Given the description of an element on the screen output the (x, y) to click on. 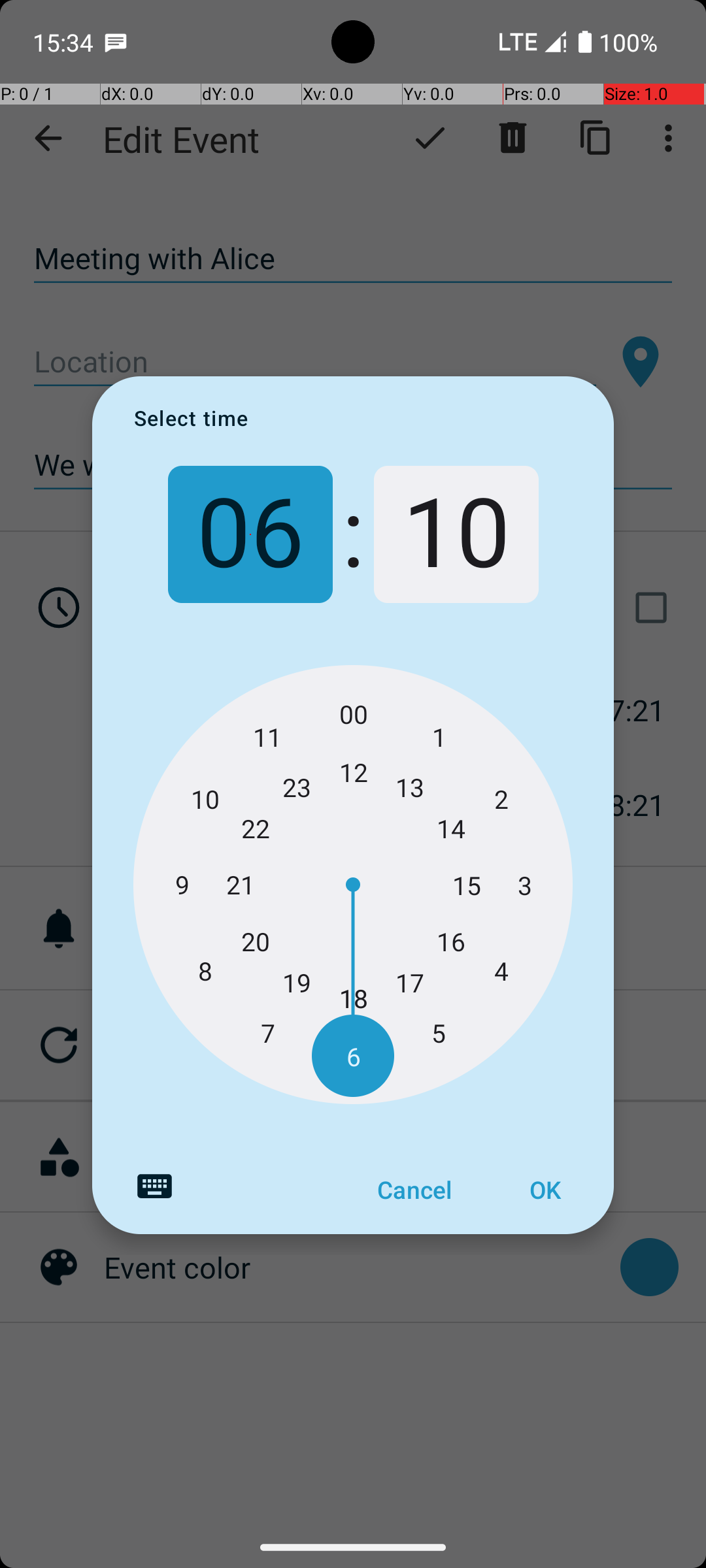
06 Element type: android.view.View (250, 534)
